Given the description of an element on the screen output the (x, y) to click on. 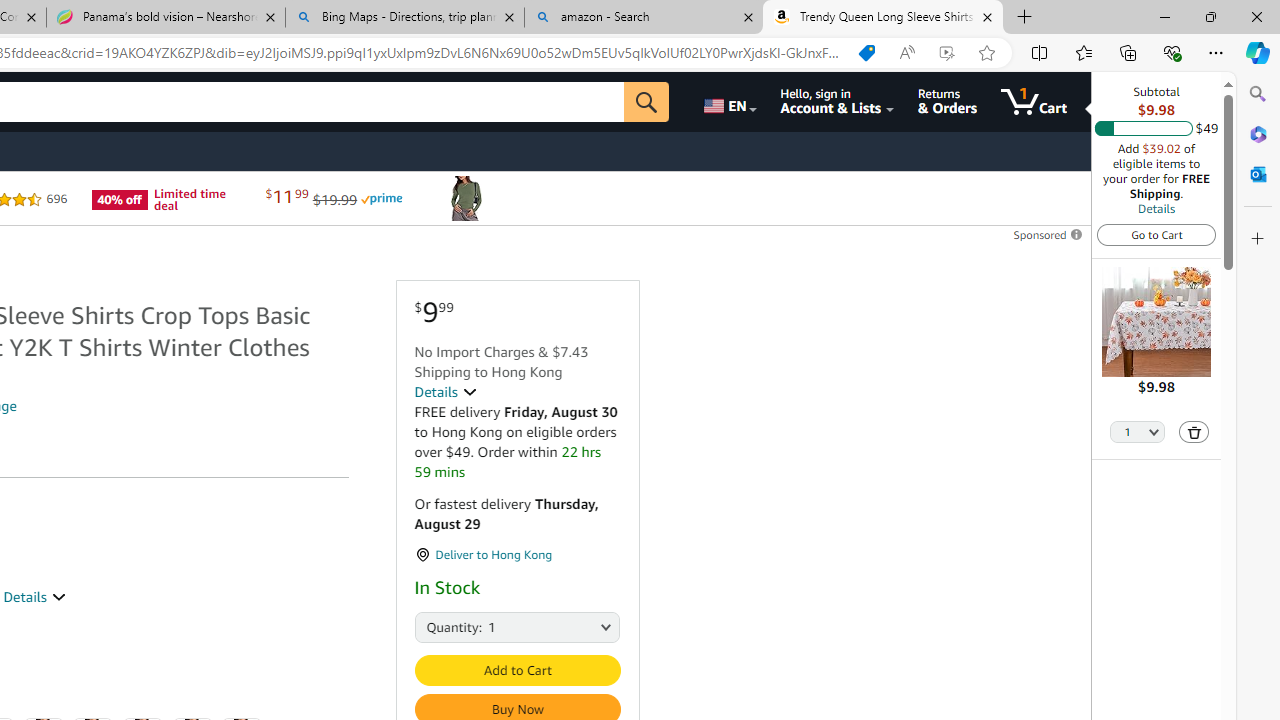
Details (1156, 208)
Go (646, 101)
Go to Cart (1156, 234)
Choose a language for shopping. (728, 101)
1 item in cart (1034, 101)
Details  (445, 391)
Returns & Orders (946, 101)
Delete (1194, 431)
